Given the description of an element on the screen output the (x, y) to click on. 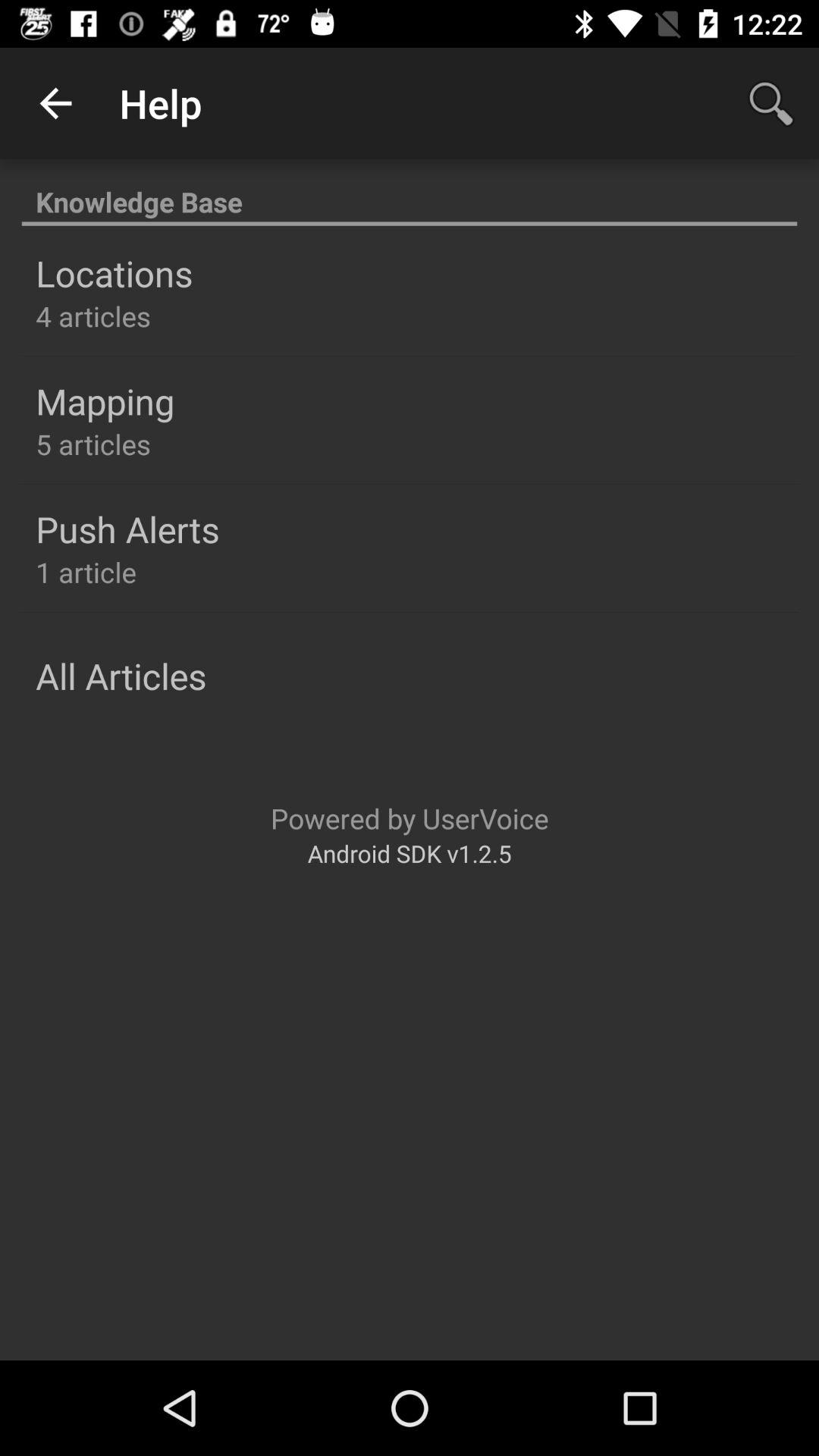
jump to the 4 articles (92, 315)
